Given the description of an element on the screen output the (x, y) to click on. 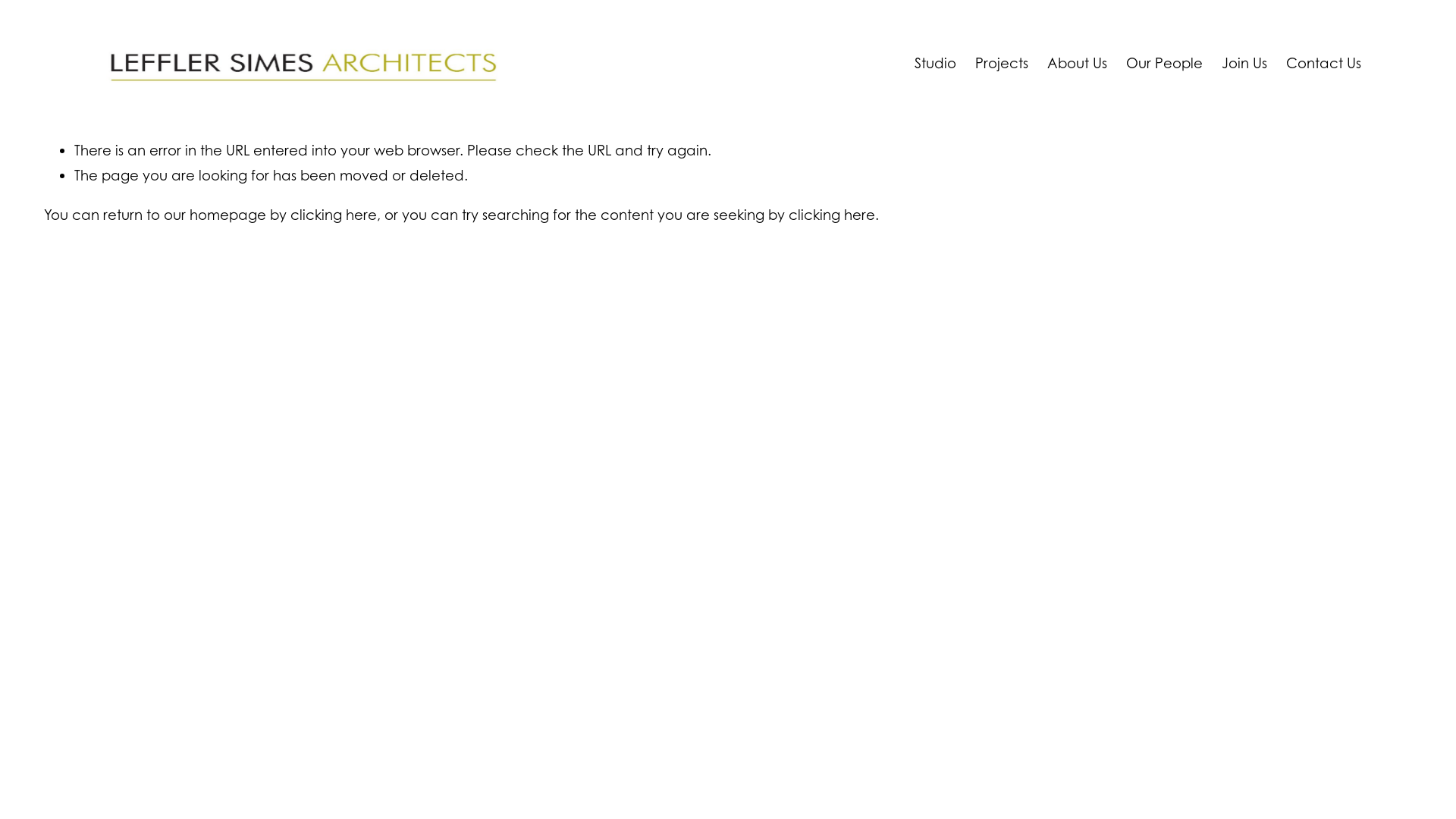
Projects Element type: text (1001, 63)
Studio Element type: text (935, 63)
Join Us Element type: text (1244, 63)
Our People Element type: text (1164, 63)
clicking here Element type: text (333, 214)
About Us Element type: text (1077, 63)
Contact Us Element type: text (1323, 63)
clicking here Element type: text (831, 214)
